Given the description of an element on the screen output the (x, y) to click on. 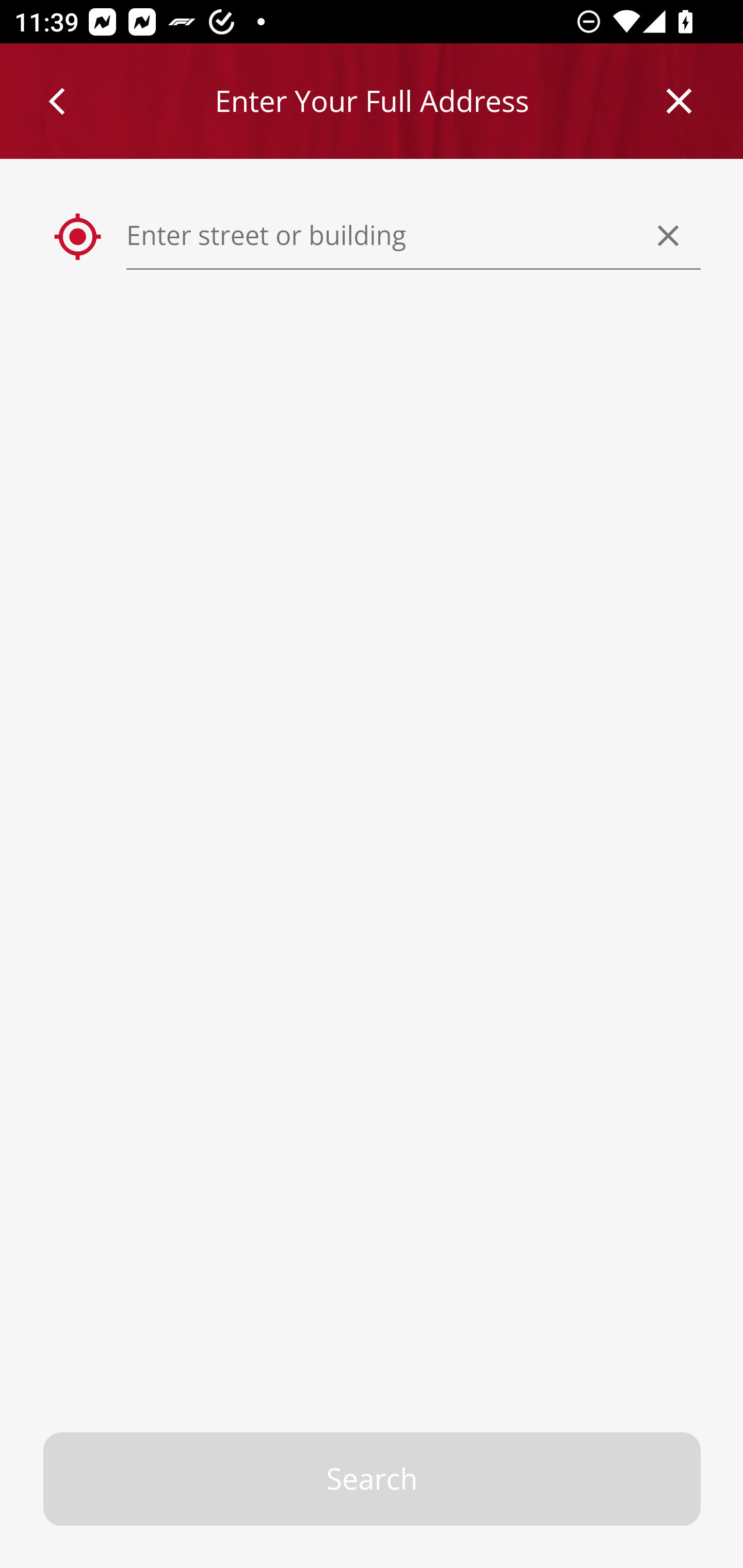
arrow_back_ios (65, 100)
close (679, 100)
gps_fixed (78, 237)
clear (669, 235)
Search (372, 1479)
